Given the description of an element on the screen output the (x, y) to click on. 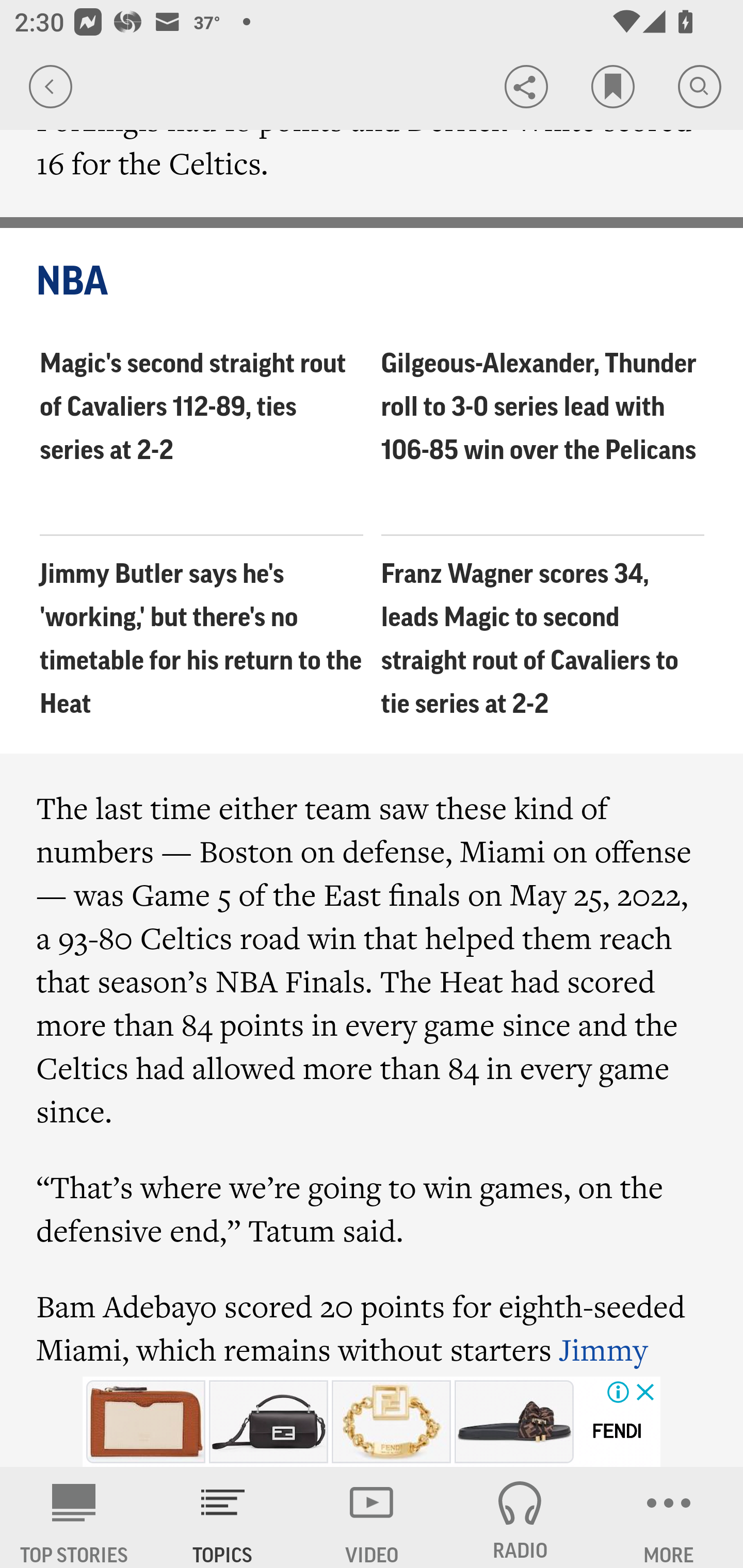
NBA (372, 281)
Jimmy Butler (341, 1352)
fendi-feel-brown-satin-slides-8x8142ae7sf0r7v (513, 1420)
AP News TOP STORIES (74, 1517)
TOPICS (222, 1517)
VIDEO (371, 1517)
RADIO (519, 1517)
MORE (668, 1517)
